Given the description of an element on the screen output the (x, y) to click on. 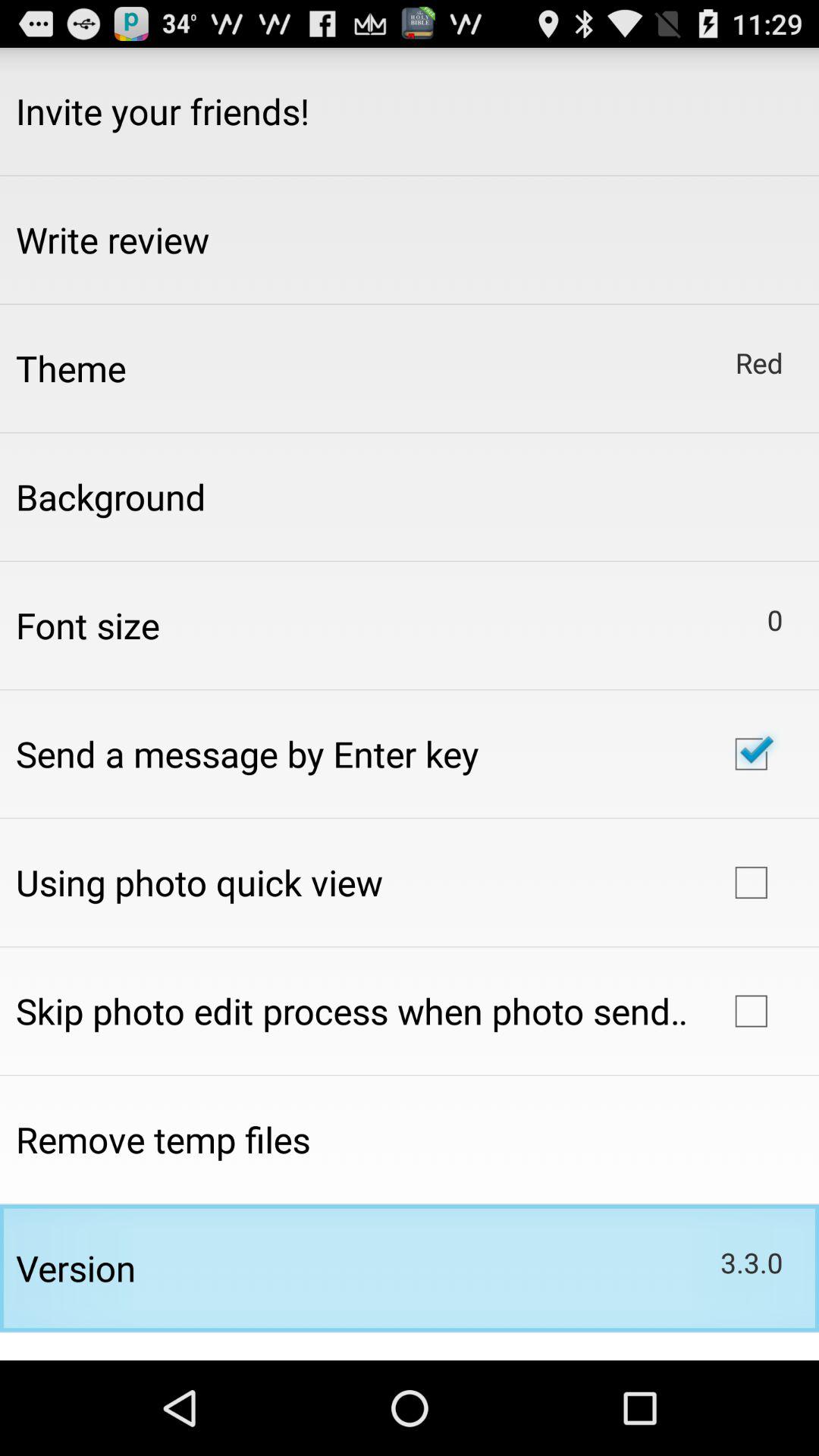
turn off the app above background (70, 368)
